Given the description of an element on the screen output the (x, y) to click on. 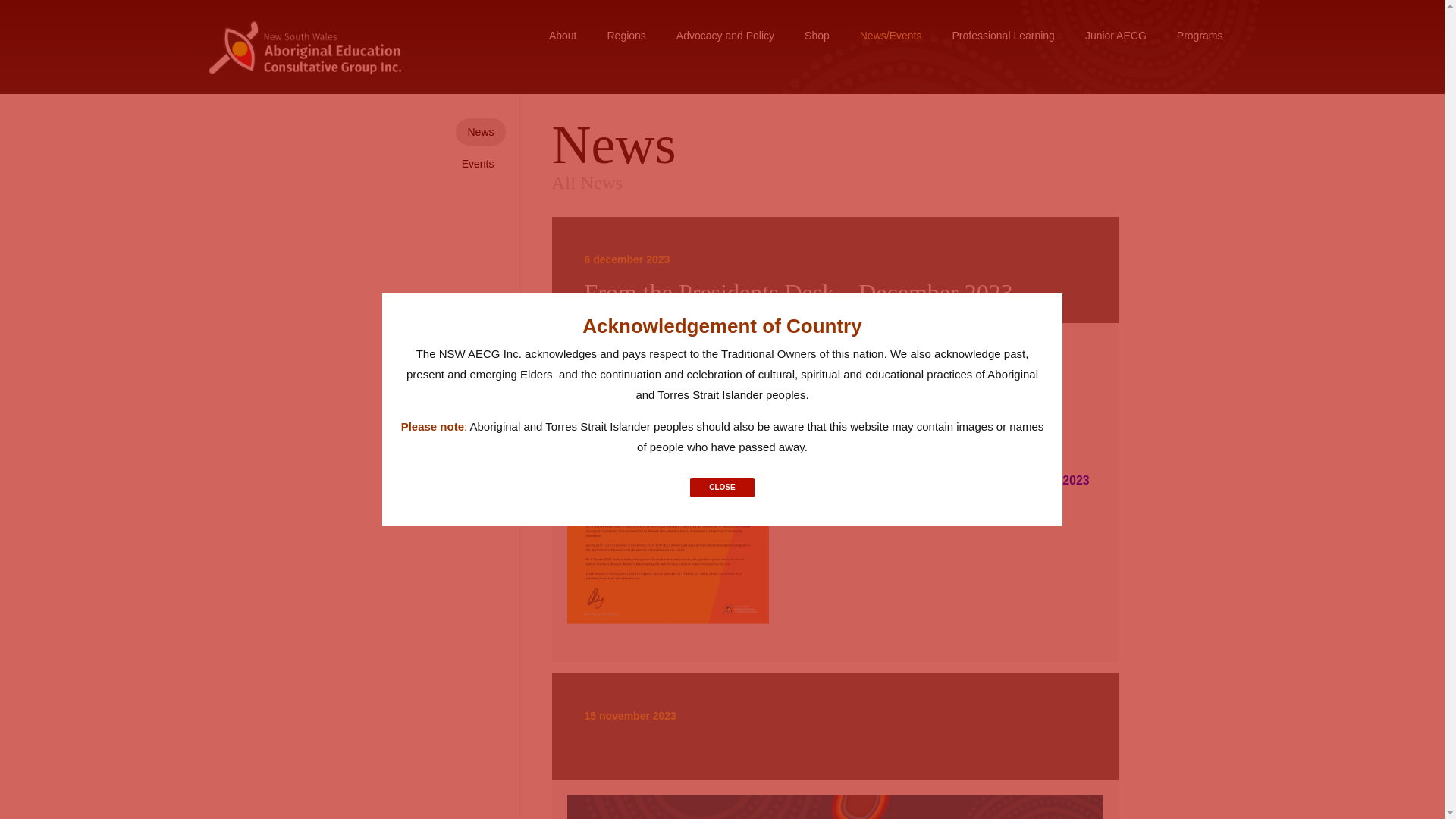
15 november 2023 (621, 680)
Programs (1200, 35)
About (569, 35)
Shop (816, 35)
6 december 2023 (618, 223)
News (486, 132)
Junior AECG (1115, 35)
Professional Learning (1002, 35)
Advocacy and Policy (725, 35)
Regions (626, 35)
Events (478, 163)
